Given the description of an element on the screen output the (x, y) to click on. 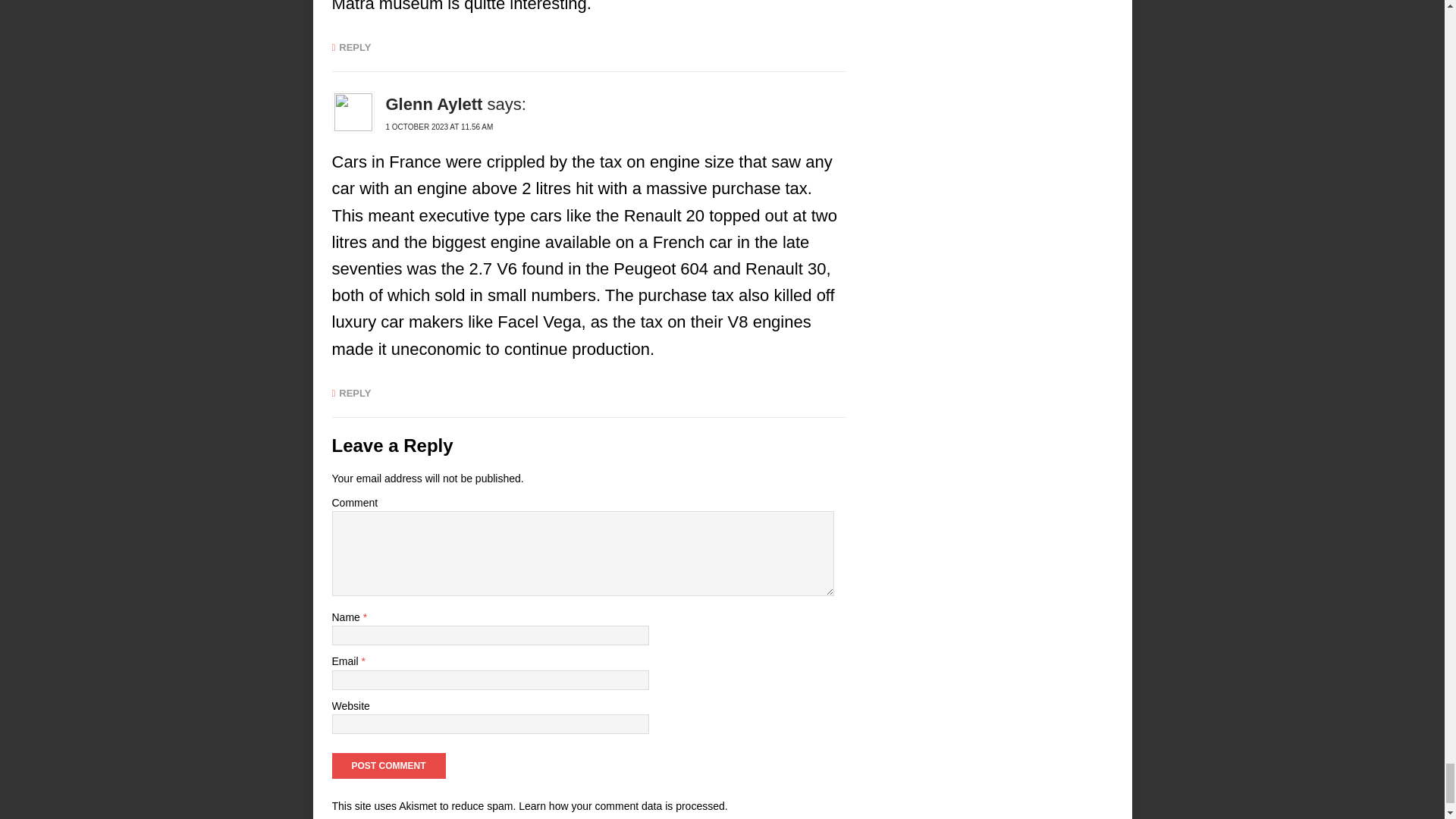
Post Comment (388, 765)
